Given the description of an element on the screen output the (x, y) to click on. 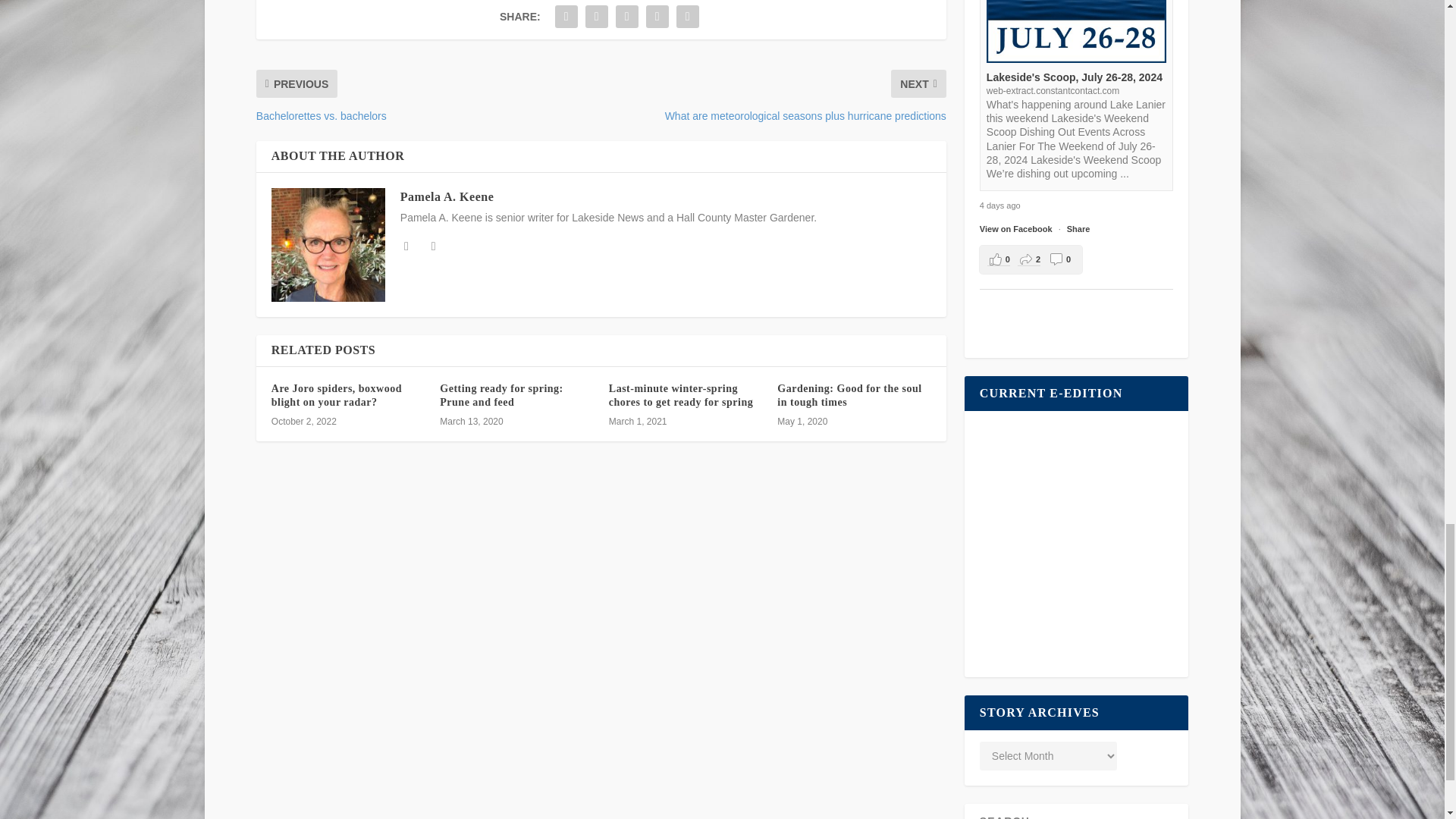
View all posts by Pamela A. Keene (446, 196)
